Given the description of an element on the screen output the (x, y) to click on. 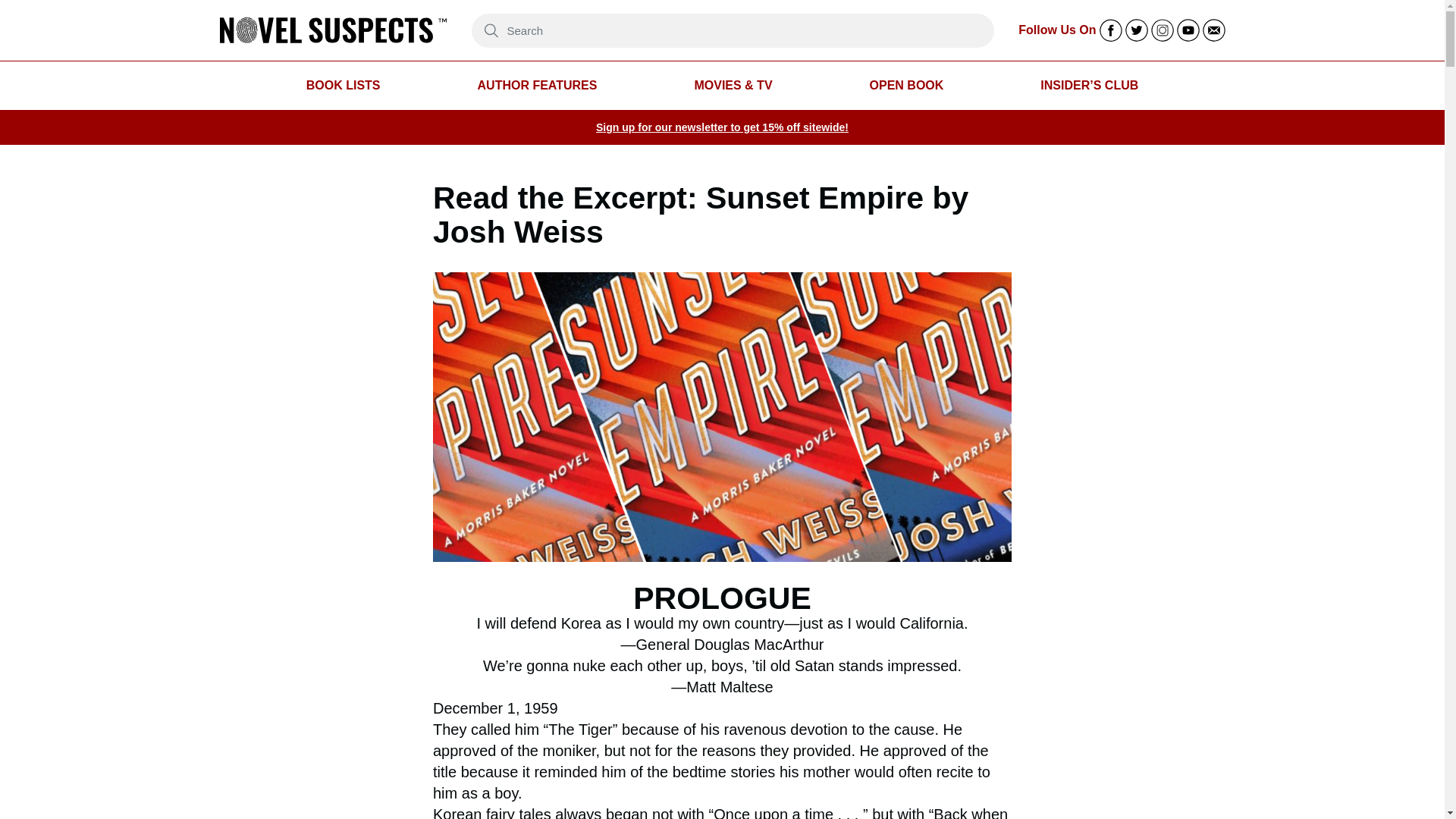
AUTHOR FEATURES (536, 85)
BOOK LISTS (342, 85)
Go to Hachette Book Group home (332, 30)
OPEN BOOK (906, 85)
